Given the description of an element on the screen output the (x, y) to click on. 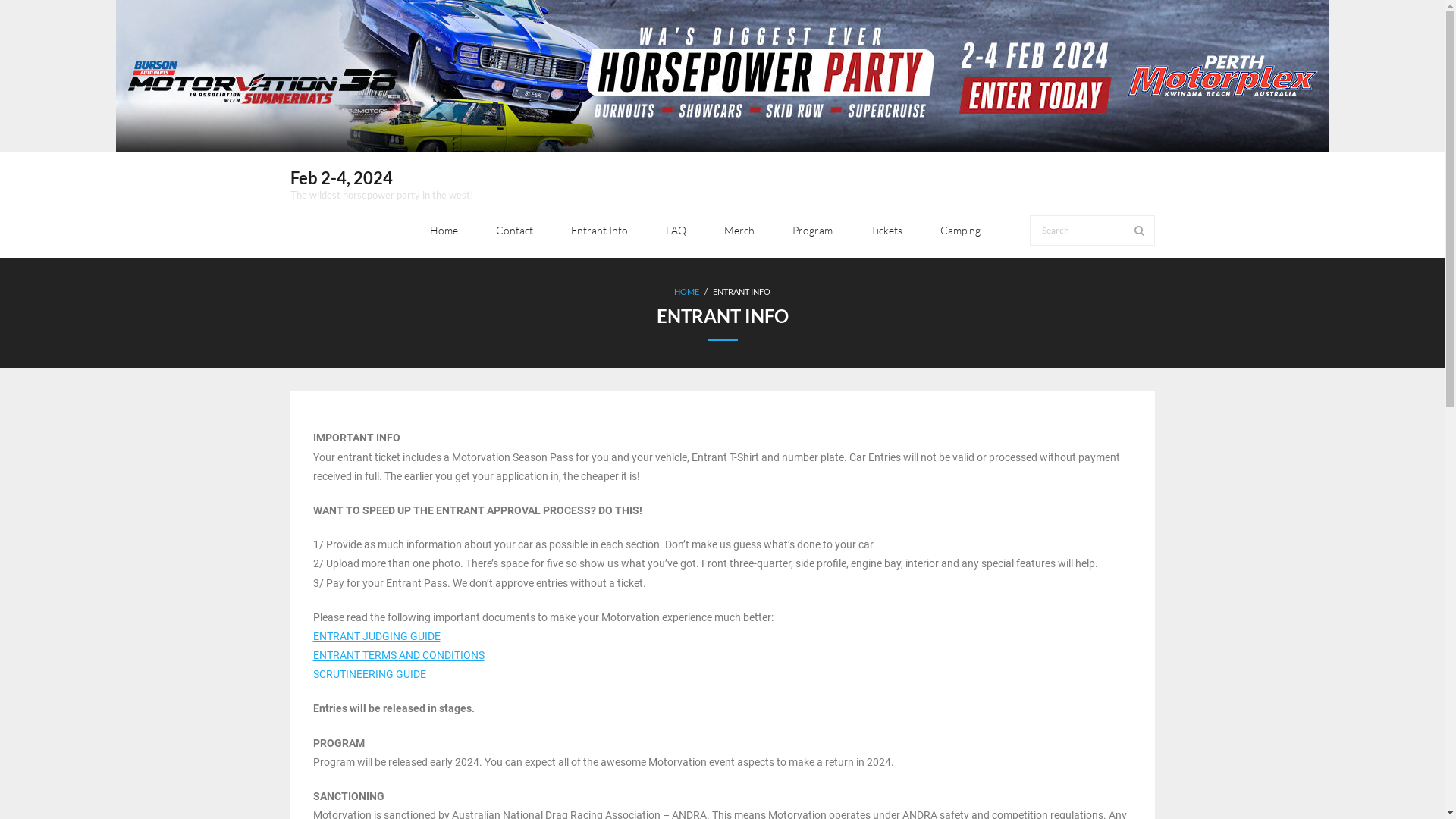
Feb 2-4, 2024
The wildest horsepower party in the west! Element type: text (380, 179)
Search Element type: text (32, 15)
Contact Element type: text (513, 230)
Merch Element type: text (739, 230)
ENTRANT JUDGING GUIDE Element type: text (375, 636)
SCRUTINEERING GUIDE Element type: text (368, 674)
Program Element type: text (812, 230)
Home Element type: text (443, 230)
FAQ Element type: text (675, 230)
ENTRANT TERMS AND CONDITIONS Element type: text (397, 655)
HOME Element type: text (686, 291)
Camping Element type: text (959, 230)
Tickets Element type: text (885, 230)
Entrant Info Element type: text (599, 230)
